Given the description of an element on the screen output the (x, y) to click on. 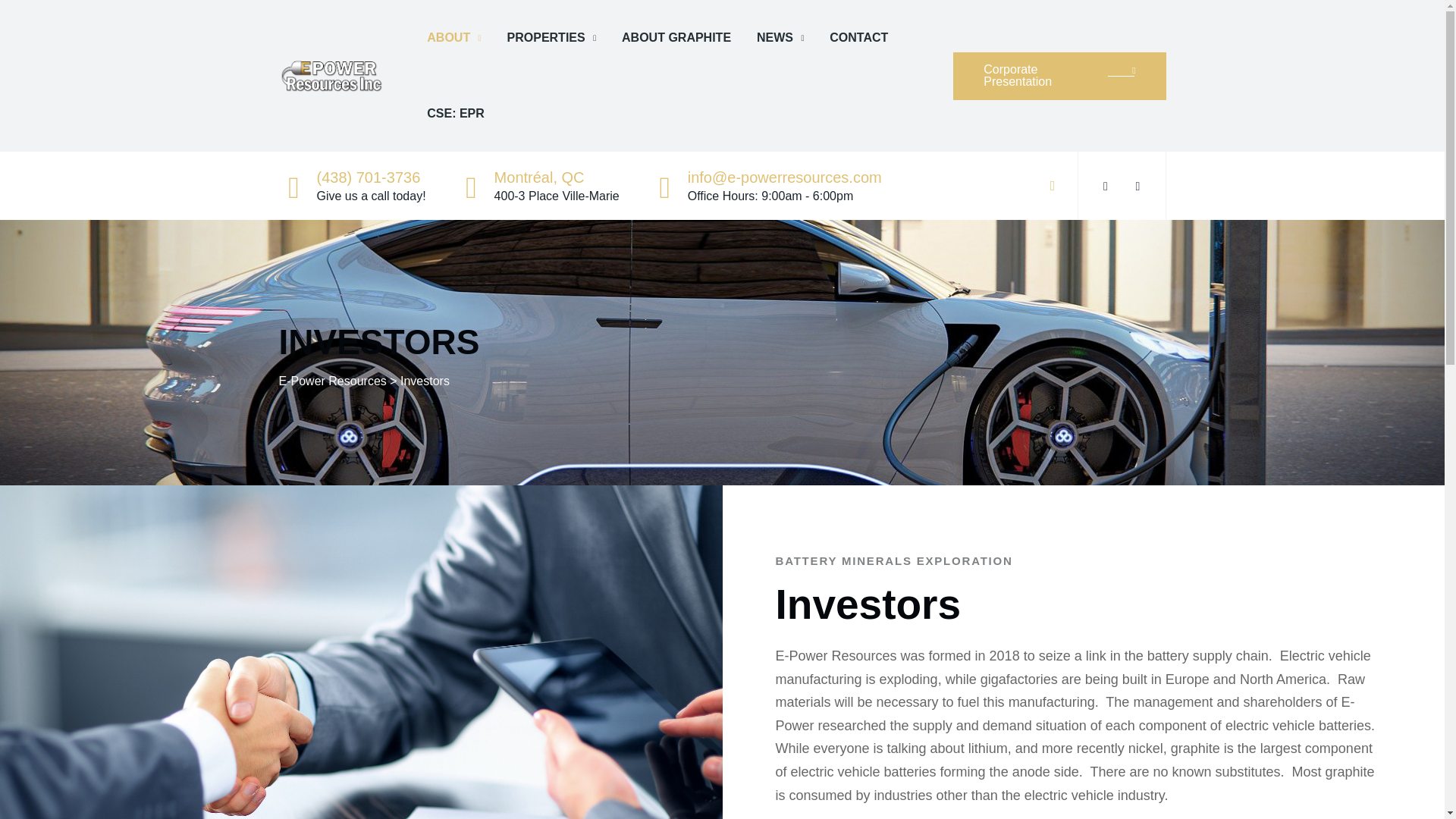
ABOUT GRAPHITE (676, 38)
E-Power Resources (332, 75)
NEWS (780, 38)
CONTACT (858, 38)
PROPERTIES (552, 38)
ABOUT (453, 38)
CSE: EPR (455, 113)
Go to E-Power Resources. (333, 380)
